Given the description of an element on the screen output the (x, y) to click on. 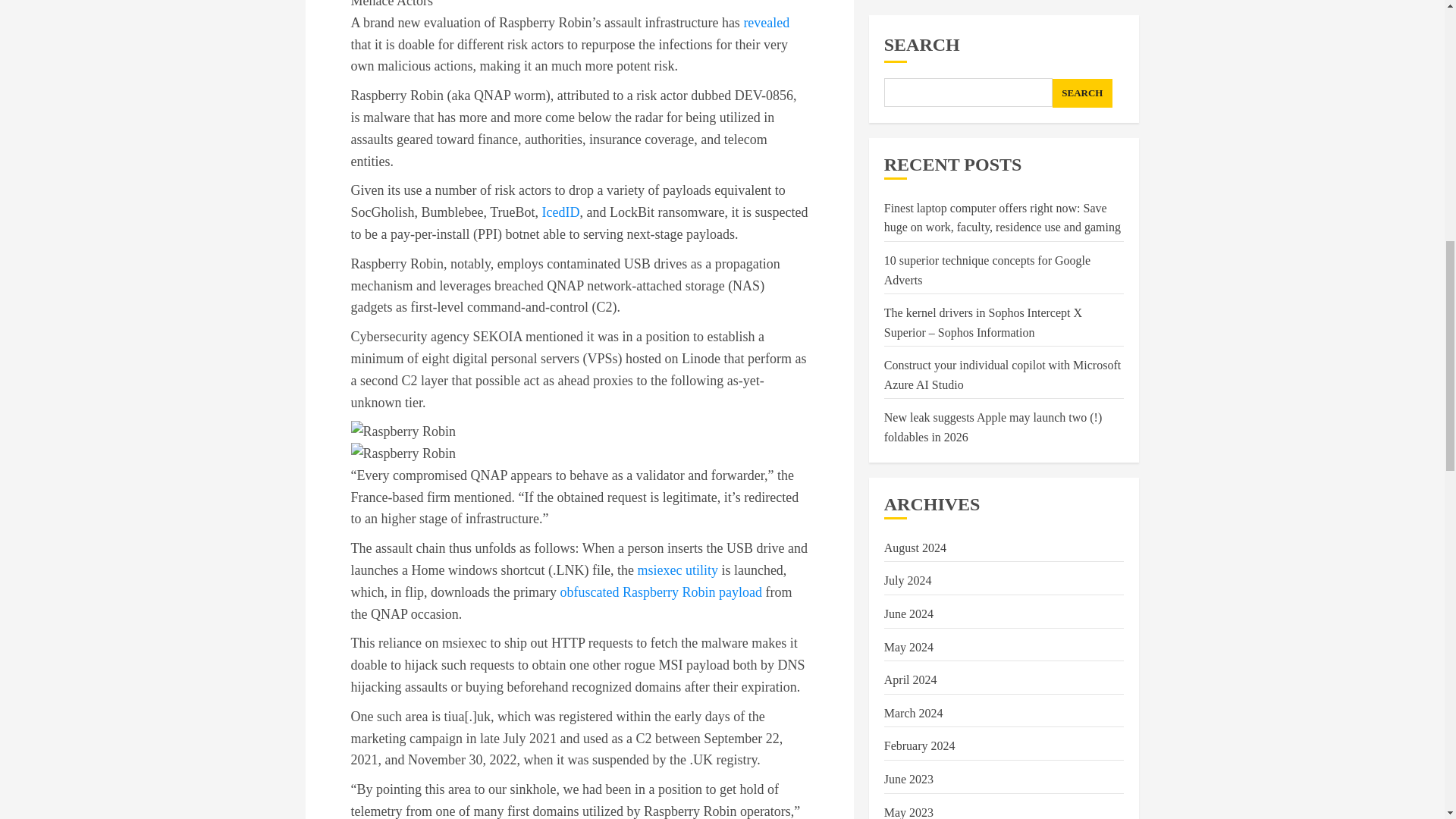
obfuscated Raspberry Robin payload (660, 591)
Raspberry Robin (402, 431)
revealed (765, 22)
IcedID (560, 212)
msiexec utility (677, 570)
Raspberry Robin (402, 454)
